Given the description of an element on the screen output the (x, y) to click on. 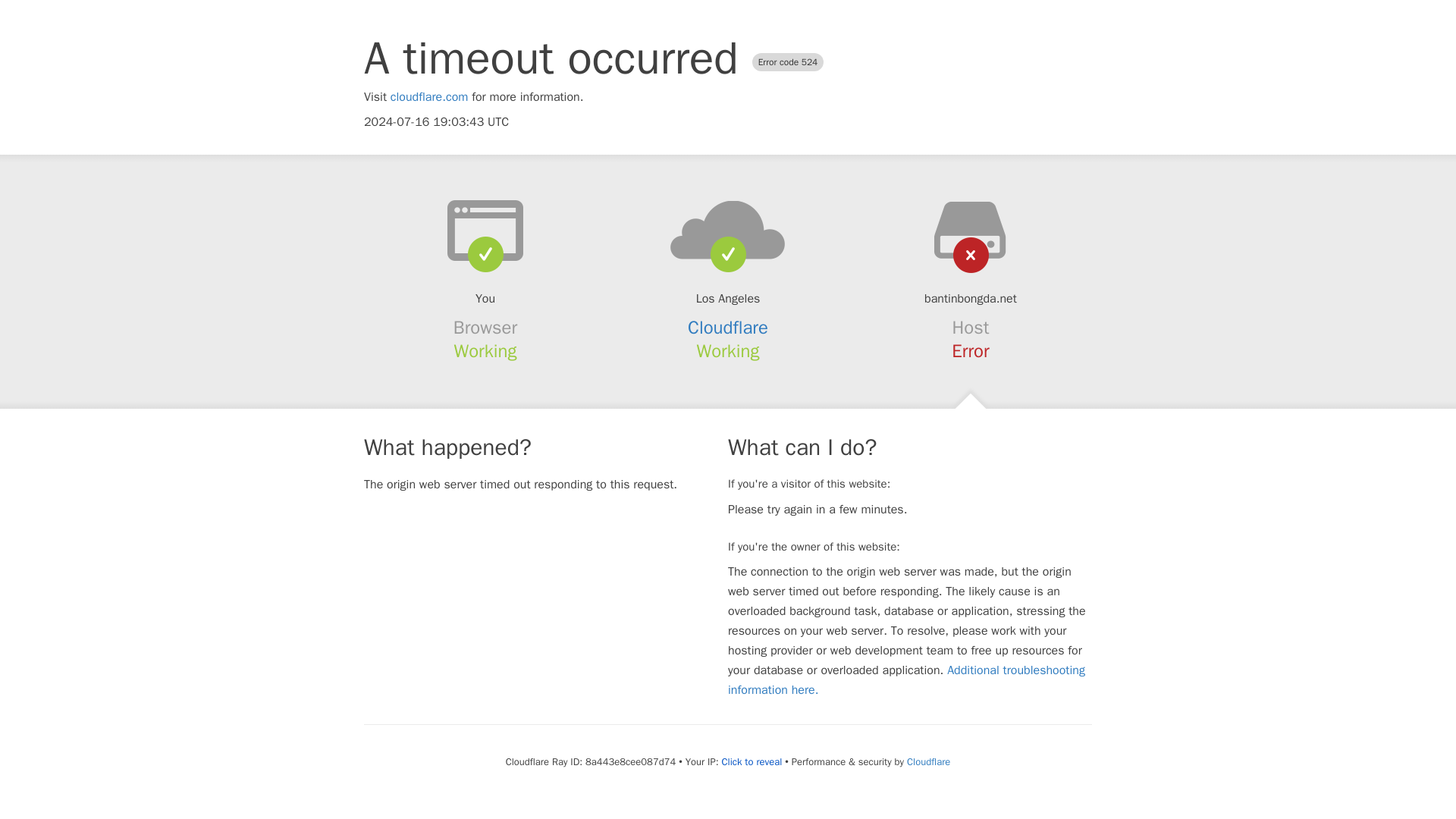
Cloudflare (928, 761)
Cloudflare (727, 327)
cloudflare.com (429, 96)
Additional troubleshooting information here. (906, 679)
Click to reveal (750, 762)
